Given the description of an element on the screen output the (x, y) to click on. 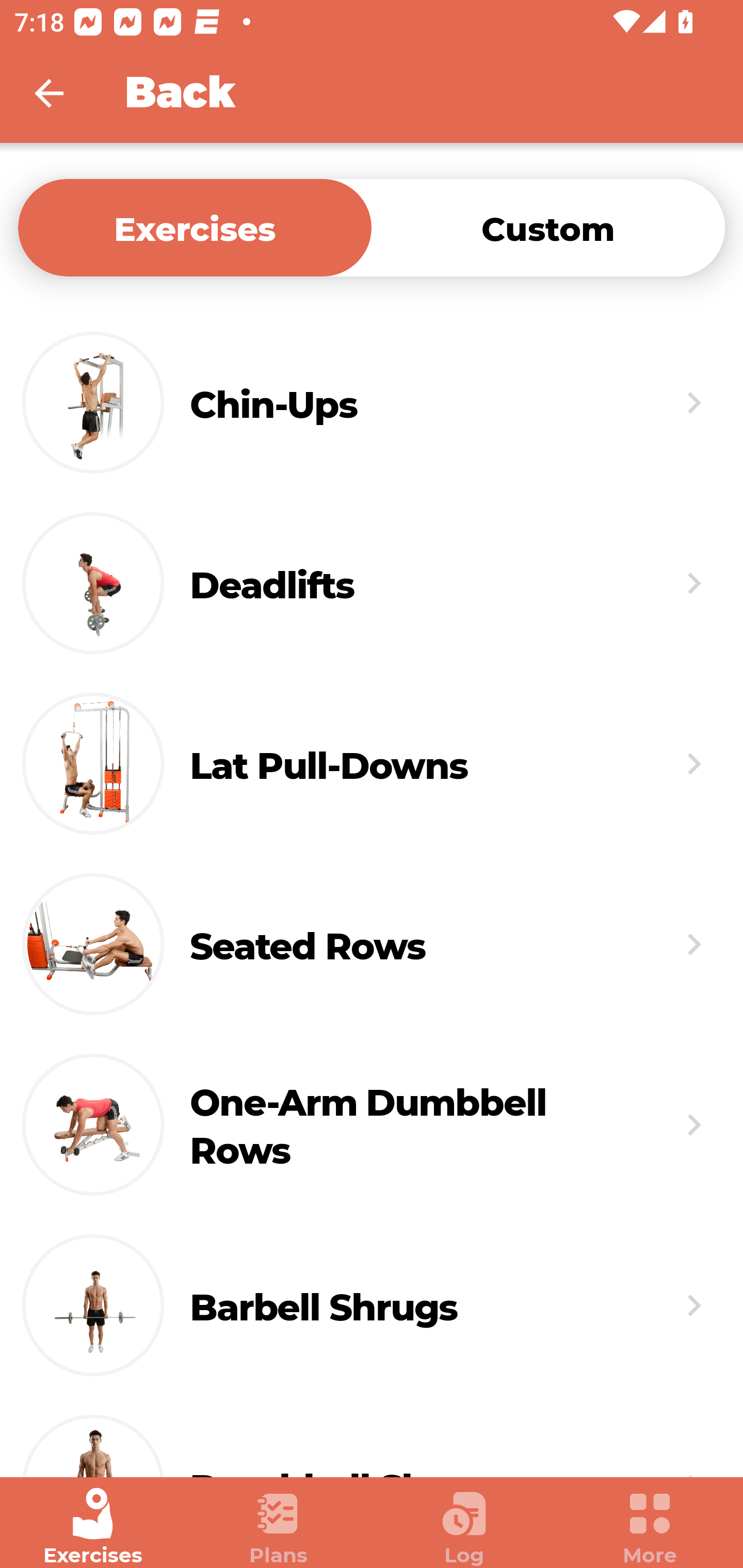
Back (62, 92)
Exercises (194, 226)
Custom (548, 226)
Exercises (92, 1527)
Plans (278, 1527)
Log (464, 1527)
More (650, 1527)
